Given the description of an element on the screen output the (x, y) to click on. 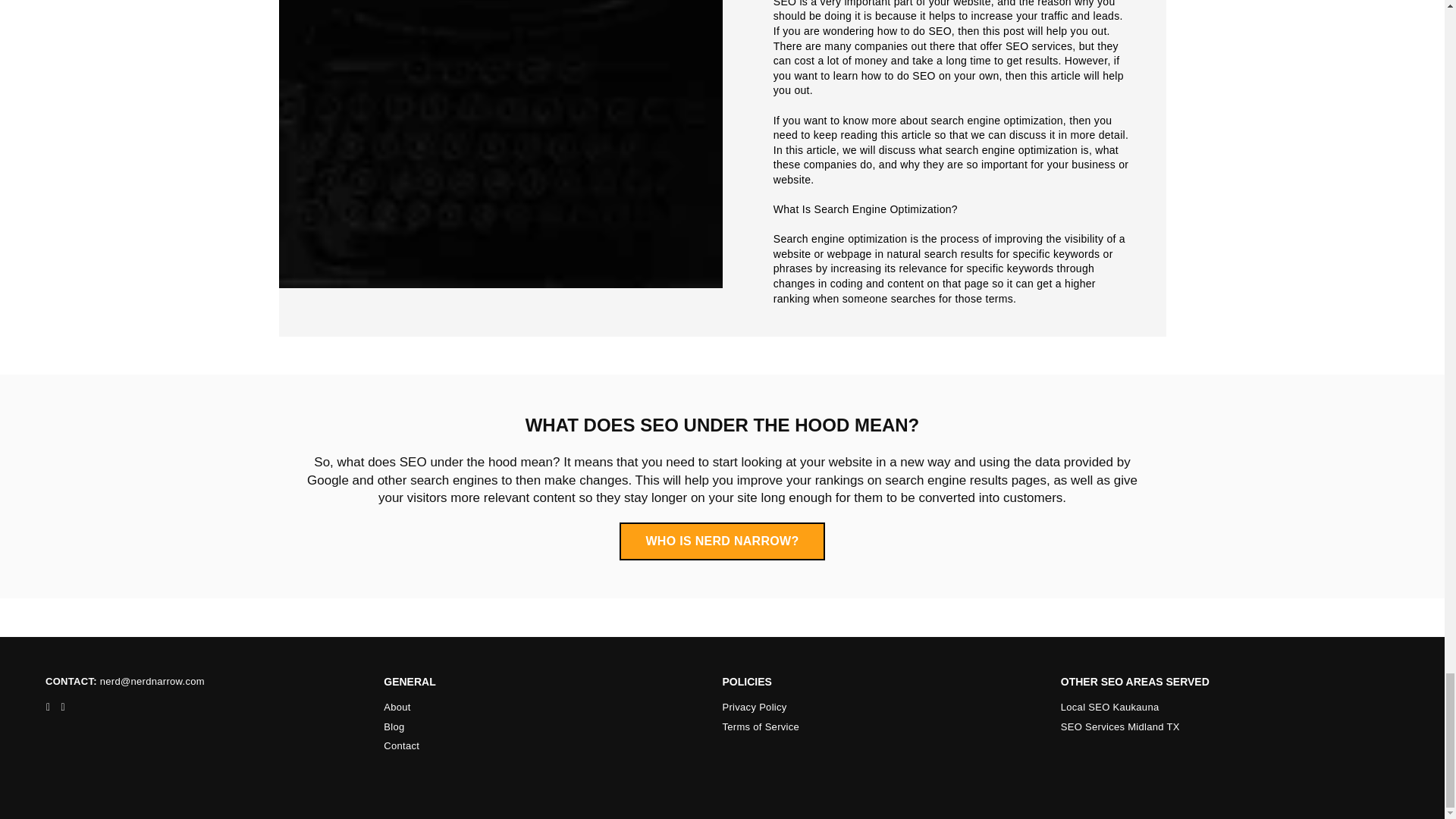
Local SEO Kaukauna (1109, 706)
About (397, 706)
Contact (401, 745)
Blog (394, 726)
Nerd Narrow on Instagram (47, 706)
Terms of Service (760, 726)
Nerd Narrow on YouTube (62, 706)
YouTube (62, 706)
SEO Services Midland TX (1120, 726)
WHO IS NERD NARROW? (722, 541)
